Given the description of an element on the screen output the (x, y) to click on. 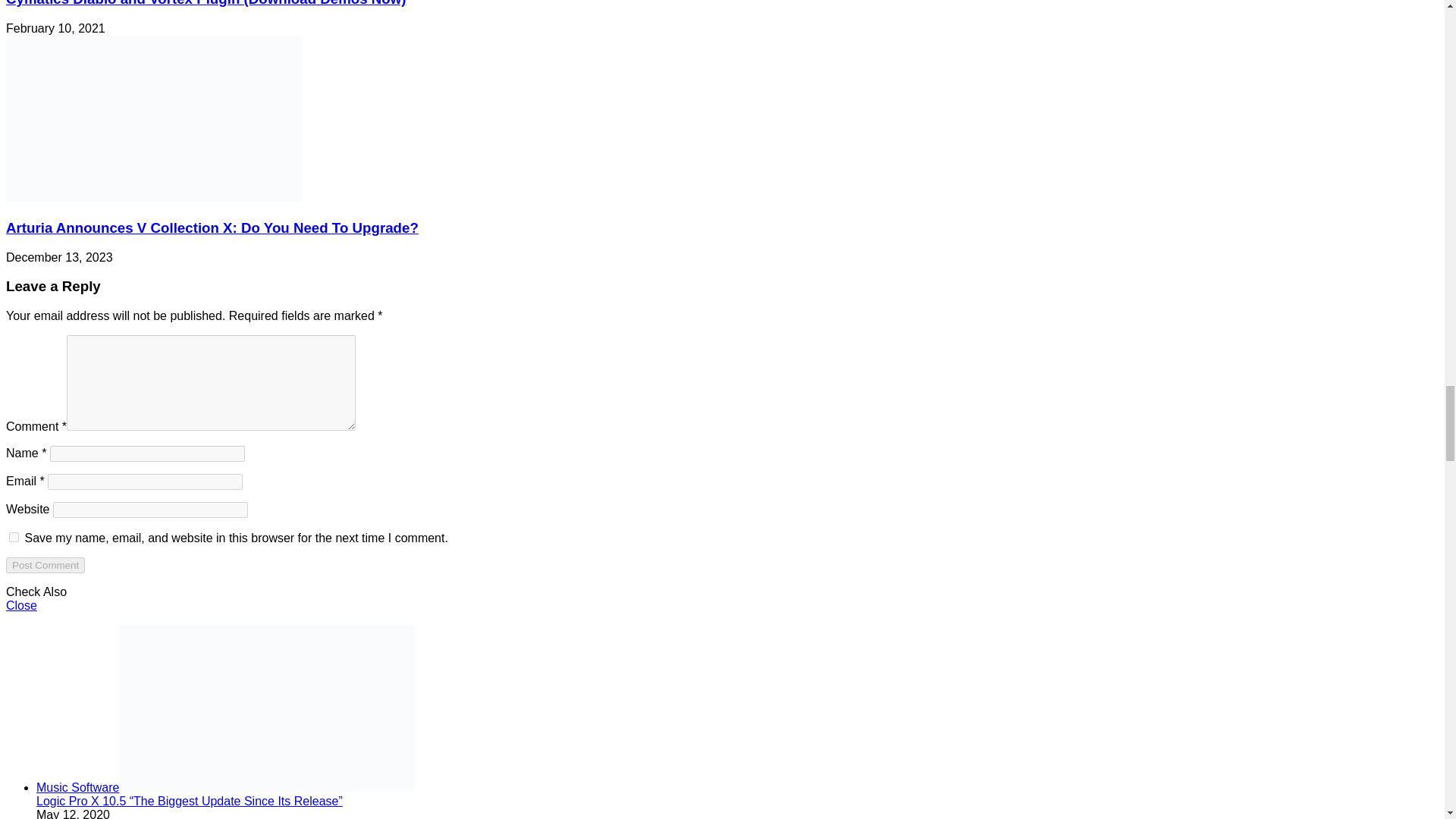
Post Comment (44, 565)
yes (13, 537)
